Given the description of an element on the screen output the (x, y) to click on. 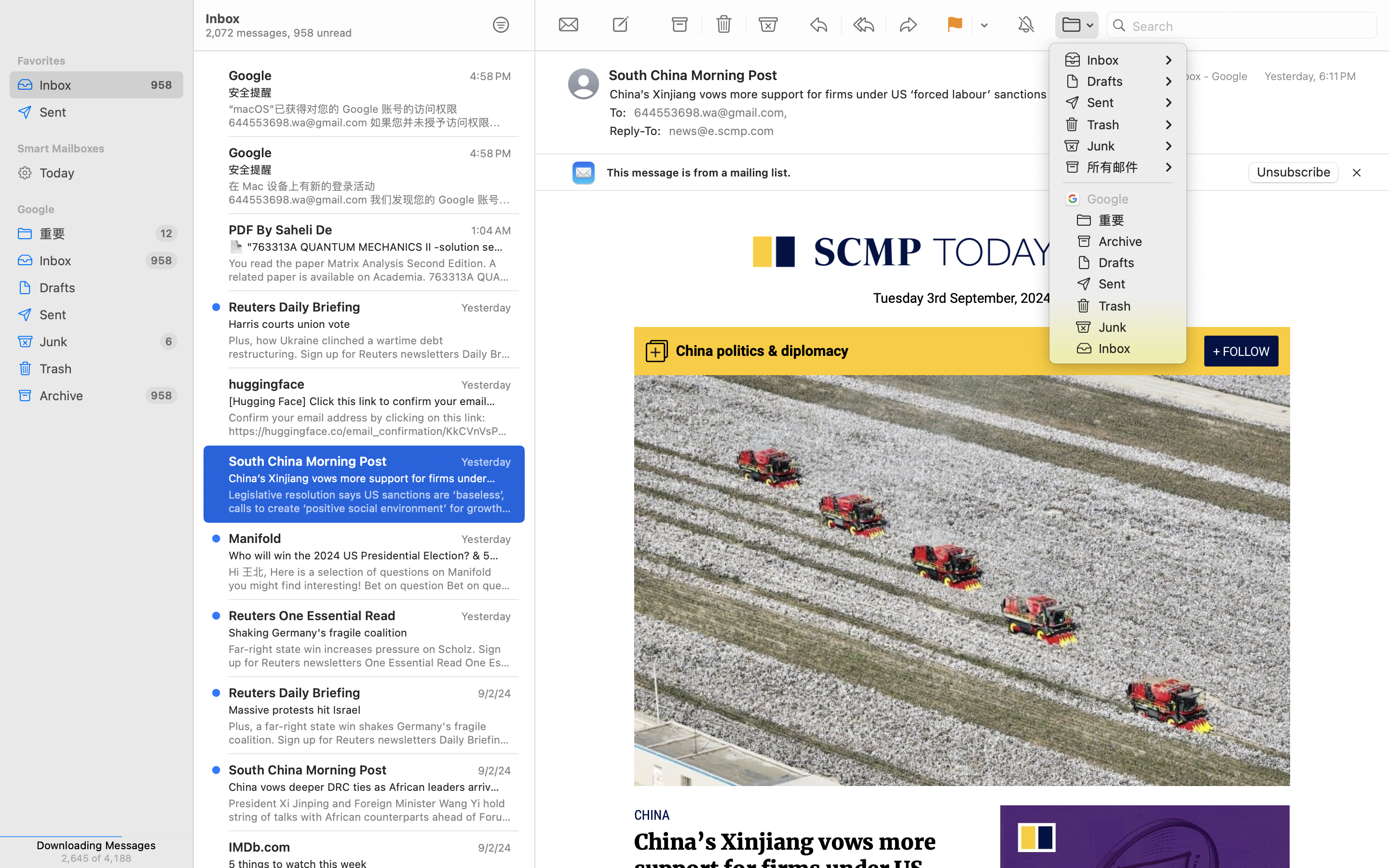
news@e.scmp.com Element type: AXStaticText (724, 130)
President Xi Jinping and Foreign Minister Wang Yi hold string of talks with African counterparts ahead of Forum on China-Africa ... - South China Morning Post, SCMP, SCMP Today: Intl Edition - President Xi Jinping and Foreign Minister Wang Yi hold string of talks with African counterparts ahead of Forum on China-Africa ... Monday 2nd September, 2024 China politics & diplomacy ChinaChina vows deeper DRC ties as African leaders arrive for FOCAC meetings2 Sep, 2024 - 05:13 pmPresident Xi Jinping and Foreign Minister Wang Yi hold string of talks with African counterparts ahead of Forum on China-Africa Cooperation. EconomyChina moves to curb money worship, extravagance and excess in financial sector2 Sep, 2024 - 04:04 pm EconomyChina’s yuan to continue to gain, but outlook hinges on Fed rate cuts: analysts2 Sep, 2024 - 05:42 pm Featured Podcast3. Millennials, GenZ and hire education Video Of The Day Hong Kong’s youngest Paralympic medallist Jasmine Ng clinches swimming bronze at age 14OPINI Element type: AXStaticText (369, 809)
You read the paper Matrix Analysis Second Edition. A related paper is available on Academia. 763313A QUANTUM MECHANICS II -solution set 2 -spring 2014 Saheli De 237 Views View PDF ▸ Download PDF ⬇ Your recent reading history: Matrix Analysis Second Edition - Benedict Cui Want fewer recommendations like this one? 580 California St., Suite 400, San Francisco, CA, 94104 Unsubscribe Privacy Policy Terms of Service © 2024 Academia Element type: AXStaticText (369, 269)
安全提醒 Element type: AXStaticText (365, 92)
China politics & diplomacy Element type: AXStaticText (761, 351)
